Given the description of an element on the screen output the (x, y) to click on. 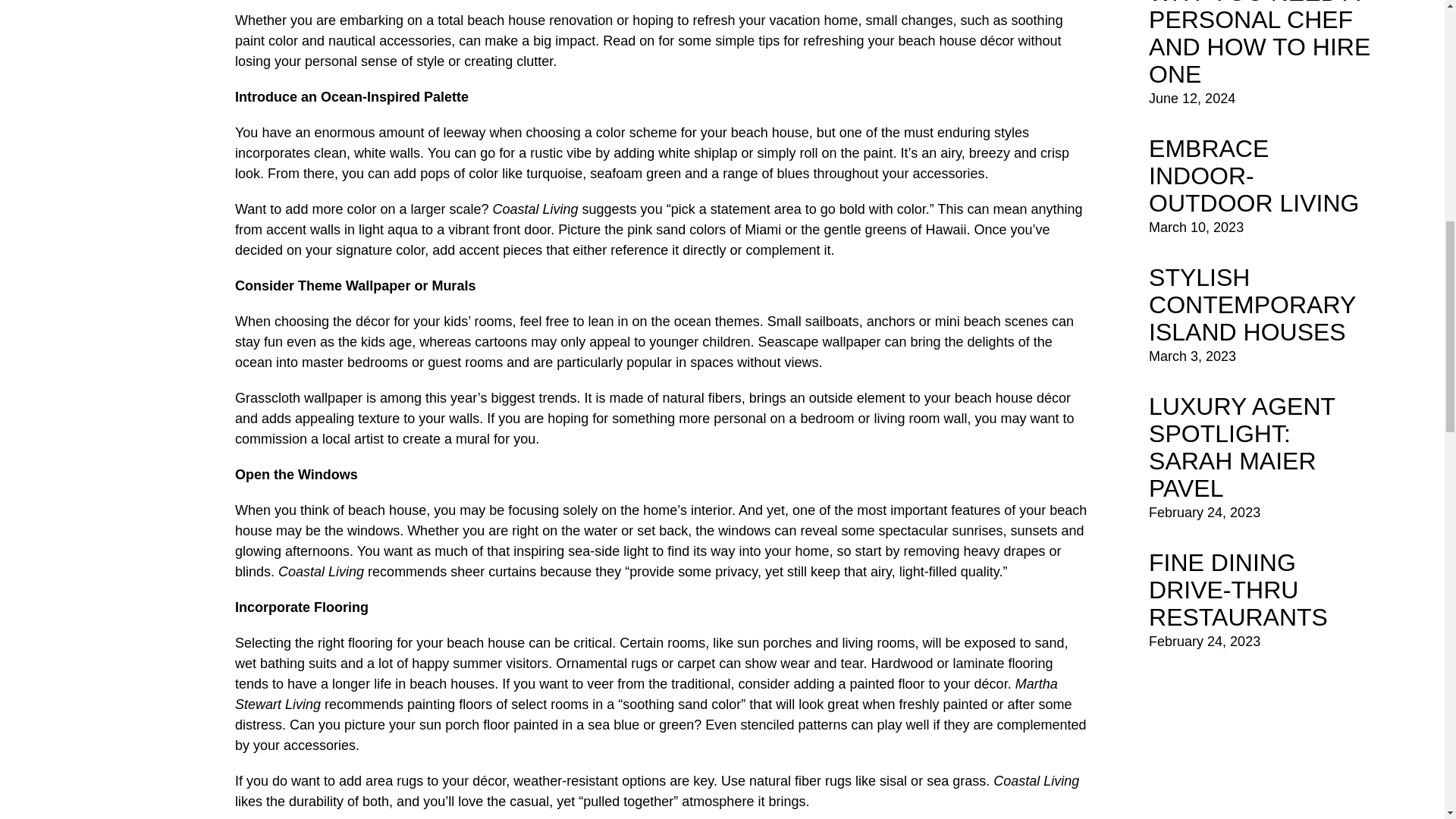
Coastal Living (535, 209)
Coastal Living (1035, 780)
Share this article: (660, 5)
Coastal Living (321, 571)
Martha Stewart Living (646, 693)
